Given the description of an element on the screen output the (x, y) to click on. 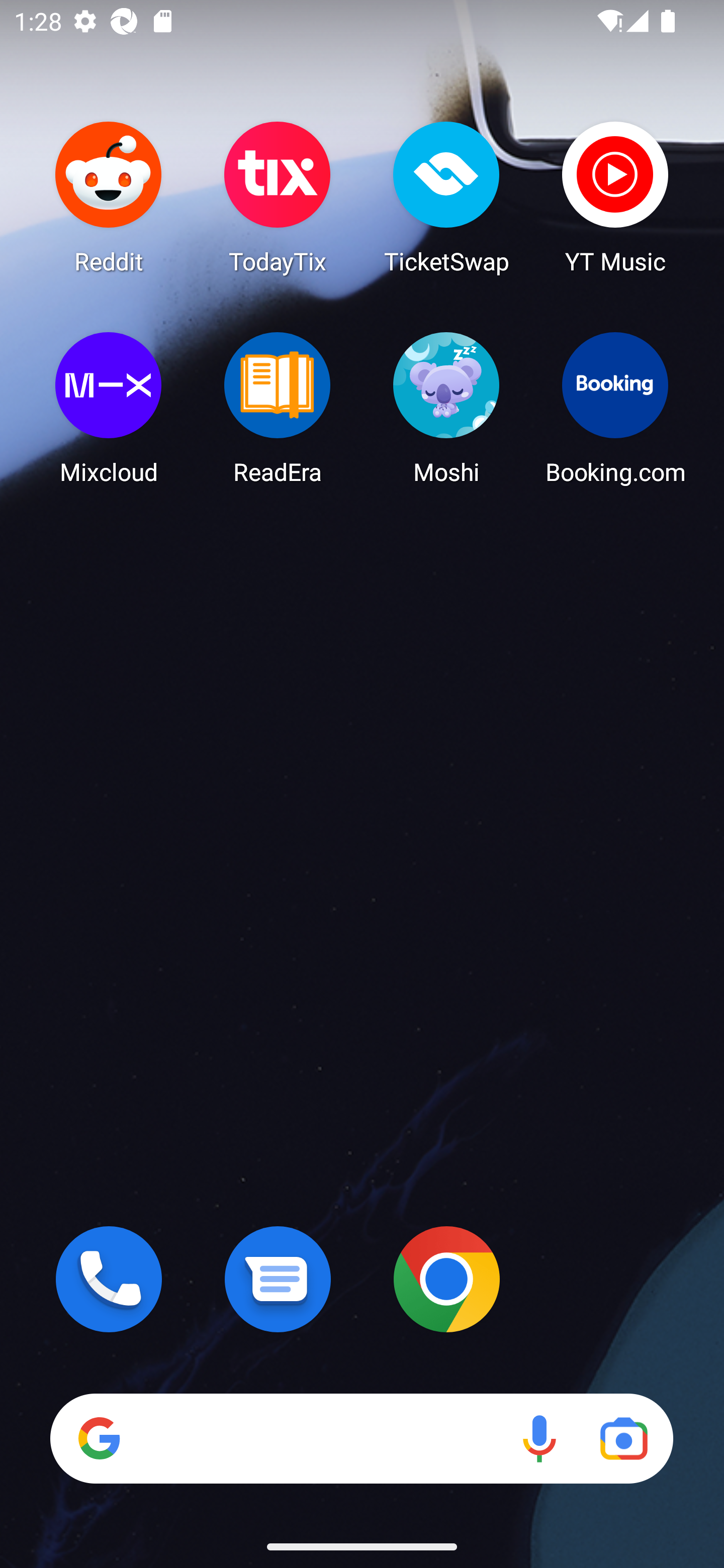
Reddit (108, 196)
TodayTix (277, 196)
TicketSwap (445, 196)
YT Music (615, 196)
Mixcloud (108, 407)
ReadEra (277, 407)
Moshi (445, 407)
Booking.com (615, 407)
Phone (108, 1279)
Messages (277, 1279)
Chrome (446, 1279)
Search Voice search Google Lens (361, 1438)
Voice search (539, 1438)
Google Lens (623, 1438)
